Given the description of an element on the screen output the (x, y) to click on. 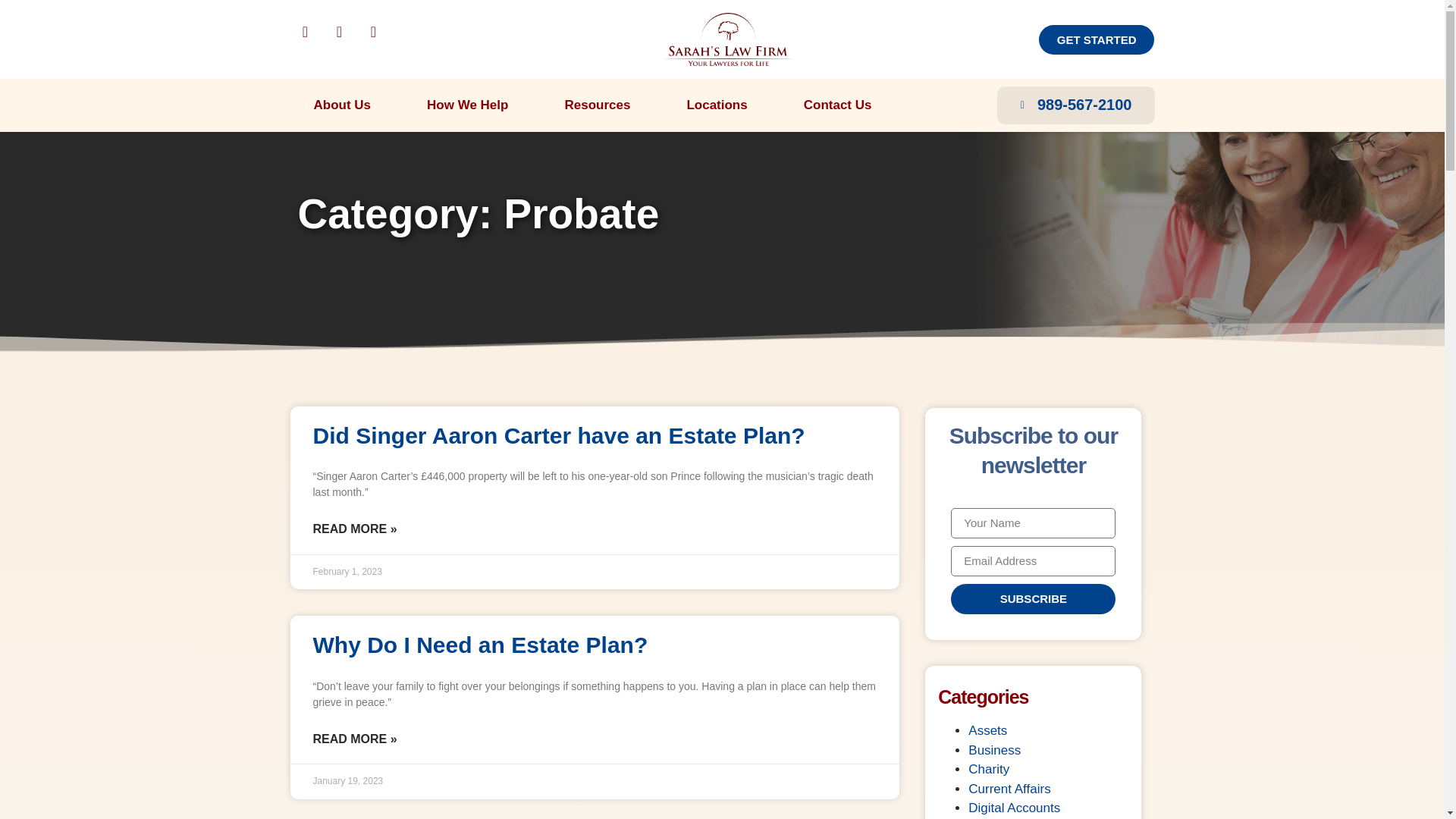
Locations (716, 104)
Contact Us (837, 104)
How We Help (467, 104)
About Us (341, 104)
Resources (596, 104)
GET STARTED (1096, 39)
